Given the description of an element on the screen output the (x, y) to click on. 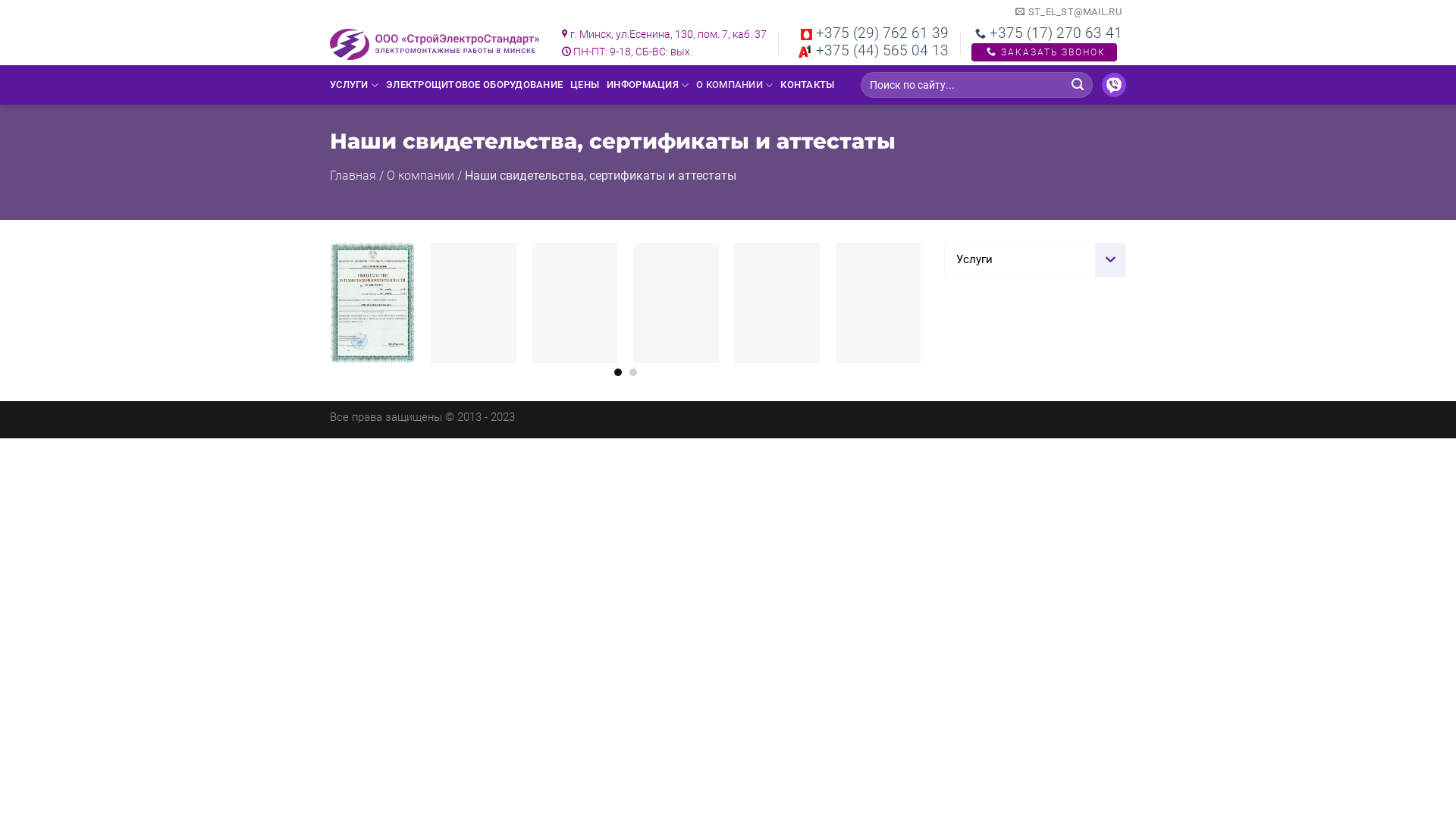
ST_EL_ST@MAIL.RU Element type: text (1067, 11)
Skip to content Element type: text (0, 0)
+375 (44) 565 04 13 Element type: text (872, 50)
  +375 (17) 270 63 41  Element type: text (1048, 32)
+375 (29) 762 61 39 Element type: text (874, 32)
